Given the description of an element on the screen output the (x, y) to click on. 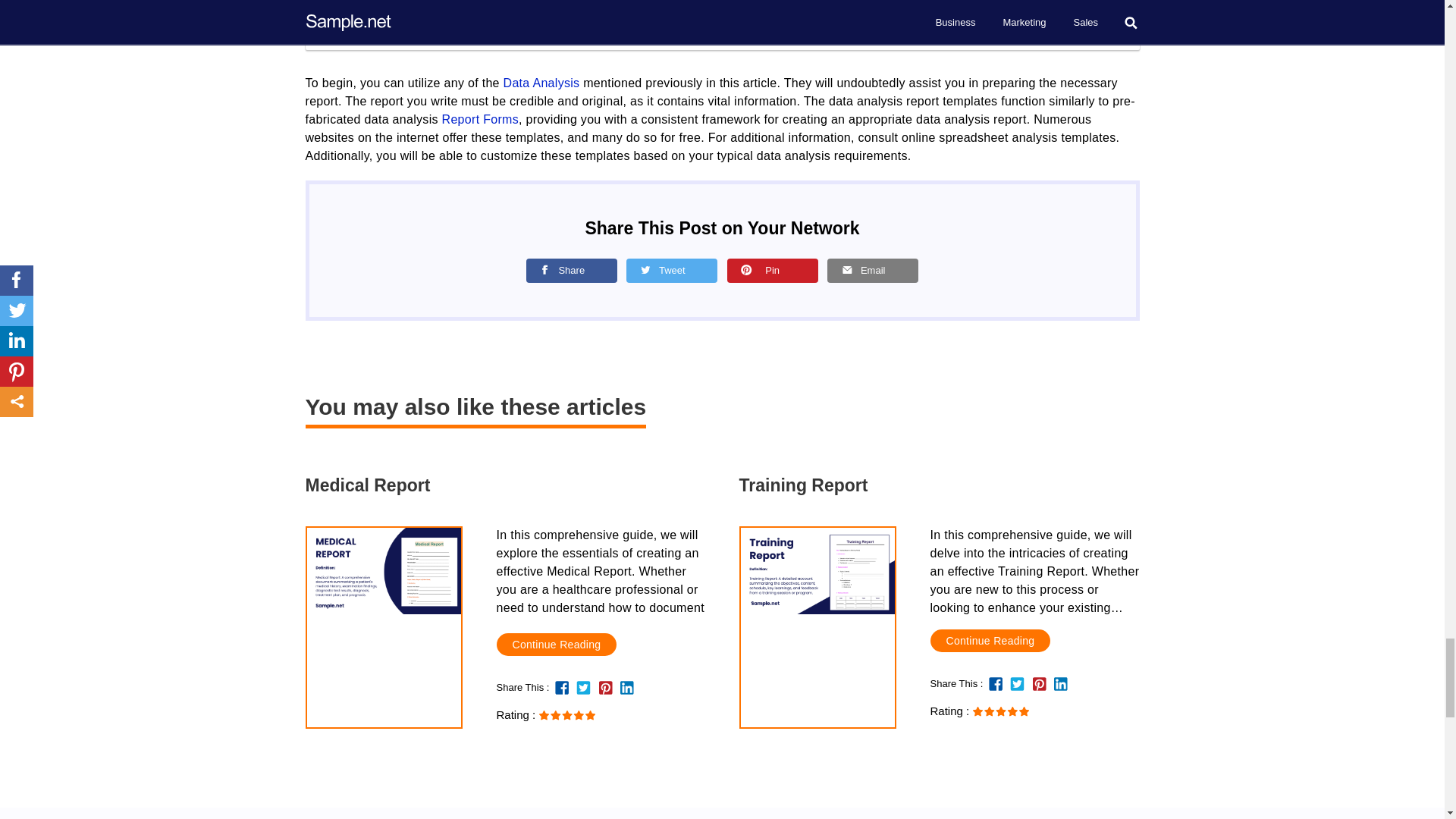
Training Report (938, 485)
Medical Report (555, 644)
Training Report (816, 570)
Medical Report (382, 570)
Training Report (989, 640)
Medical Report (504, 485)
